Given the description of an element on the screen output the (x, y) to click on. 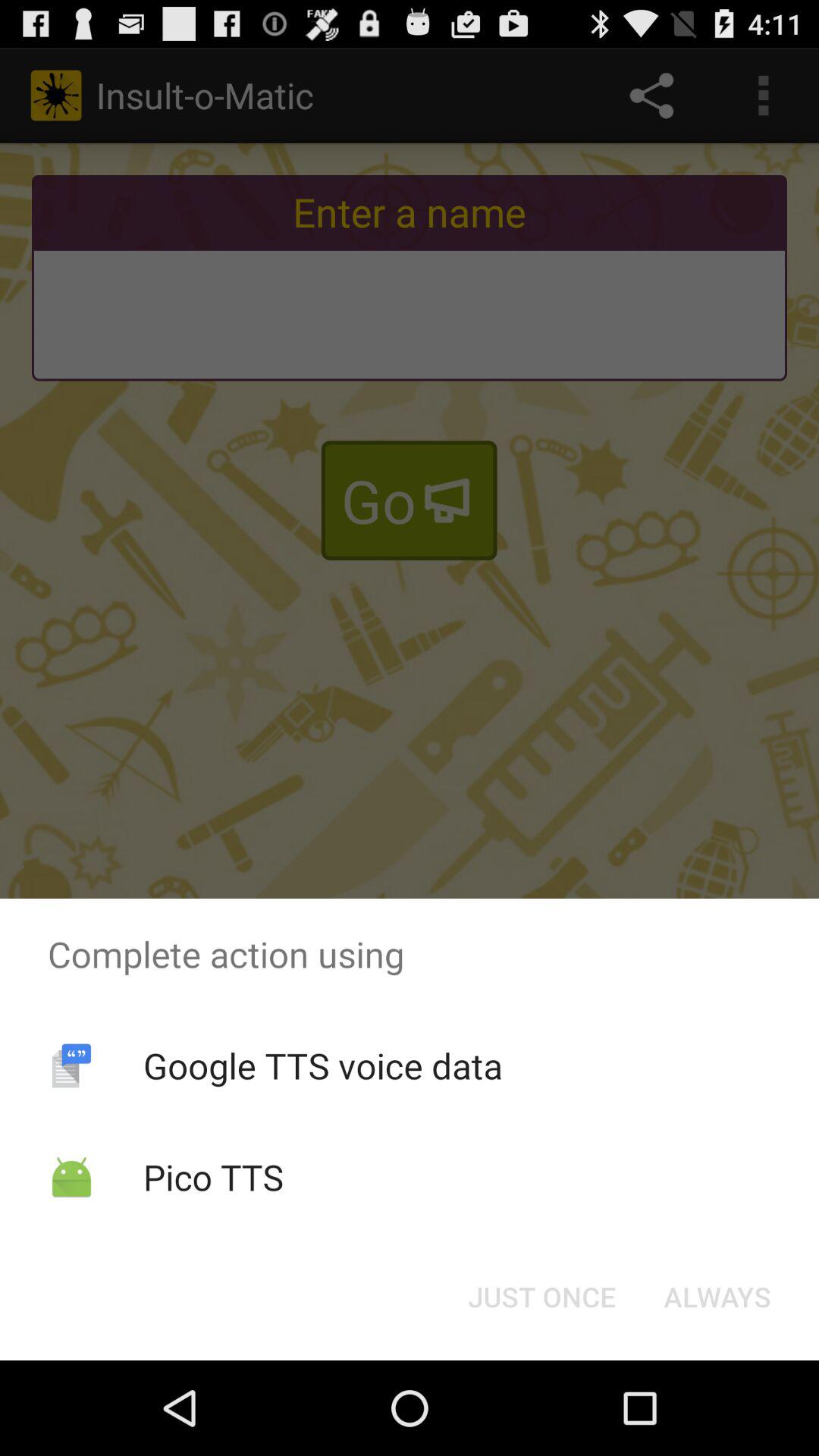
jump to google tts voice item (322, 1065)
